Given the description of an element on the screen output the (x, y) to click on. 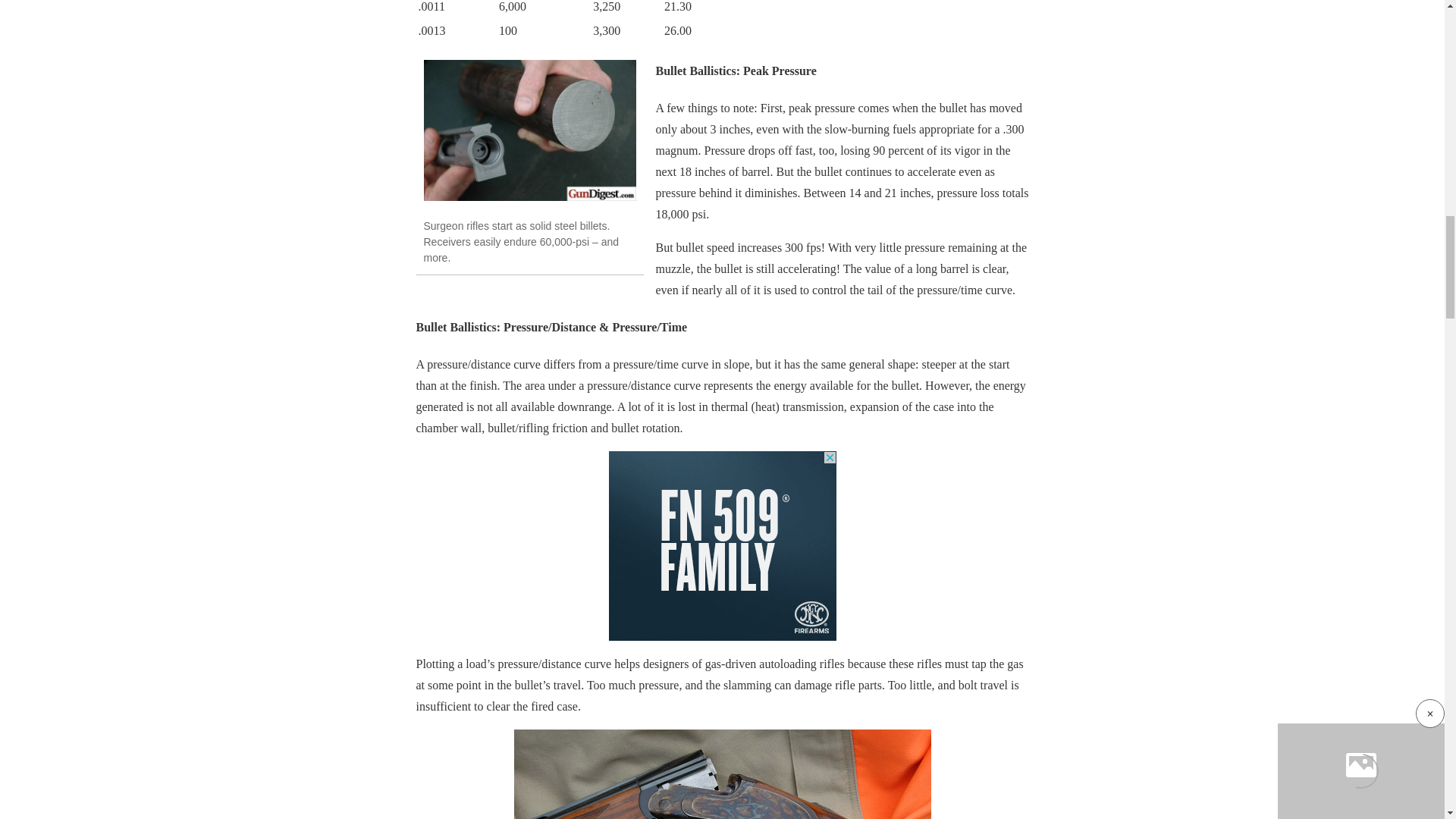
Bullet Ballistics - Billet (528, 129)
3rd party ad content (721, 545)
Bullet Ballistics - Shotgun (722, 774)
